Given the description of an element on the screen output the (x, y) to click on. 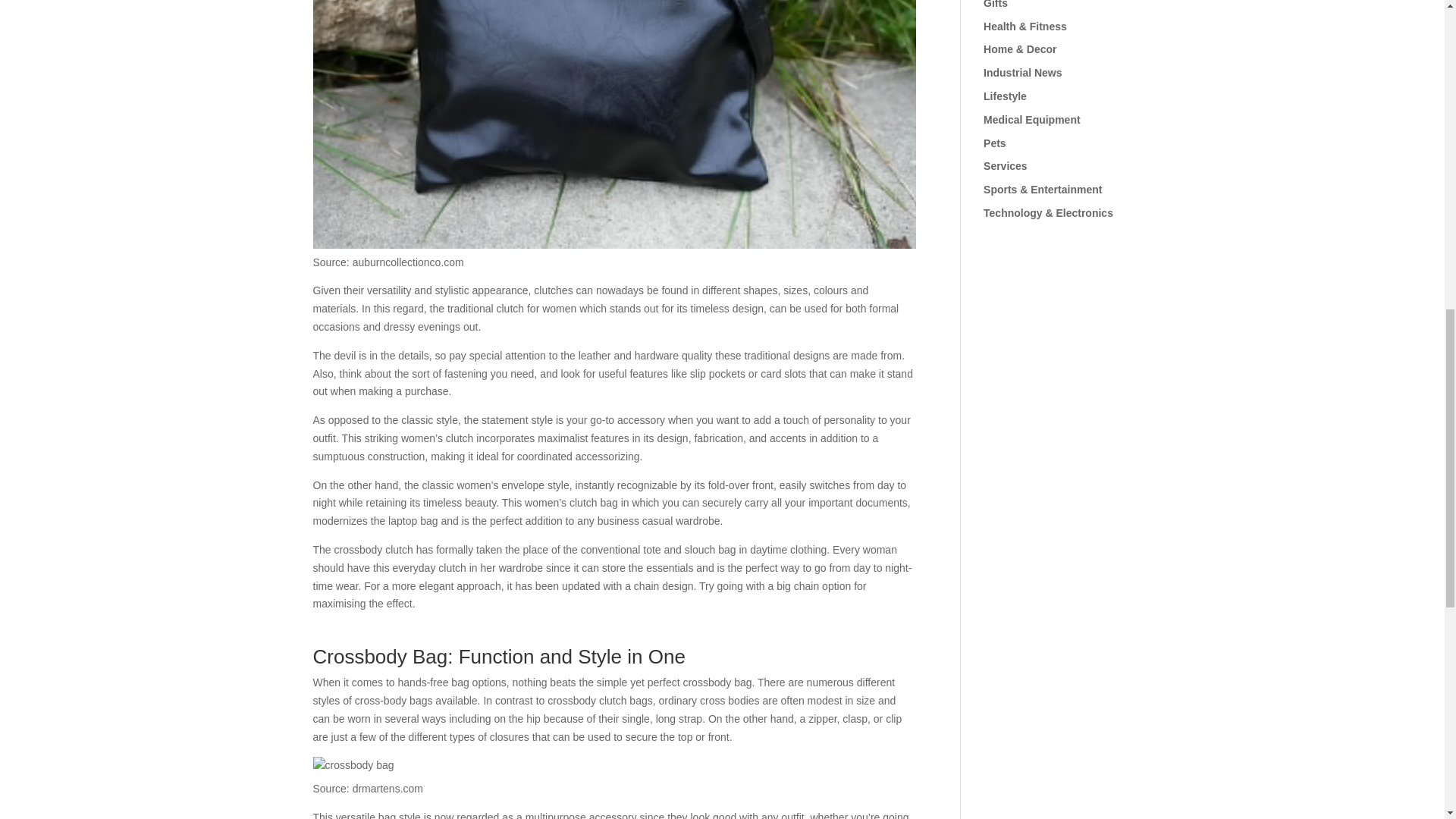
Gifts (995, 4)
Lifestyle (1005, 96)
Services (1005, 165)
Medical Equipment (1032, 119)
Industrial News (1022, 72)
Pets (995, 142)
